Given the description of an element on the screen output the (x, y) to click on. 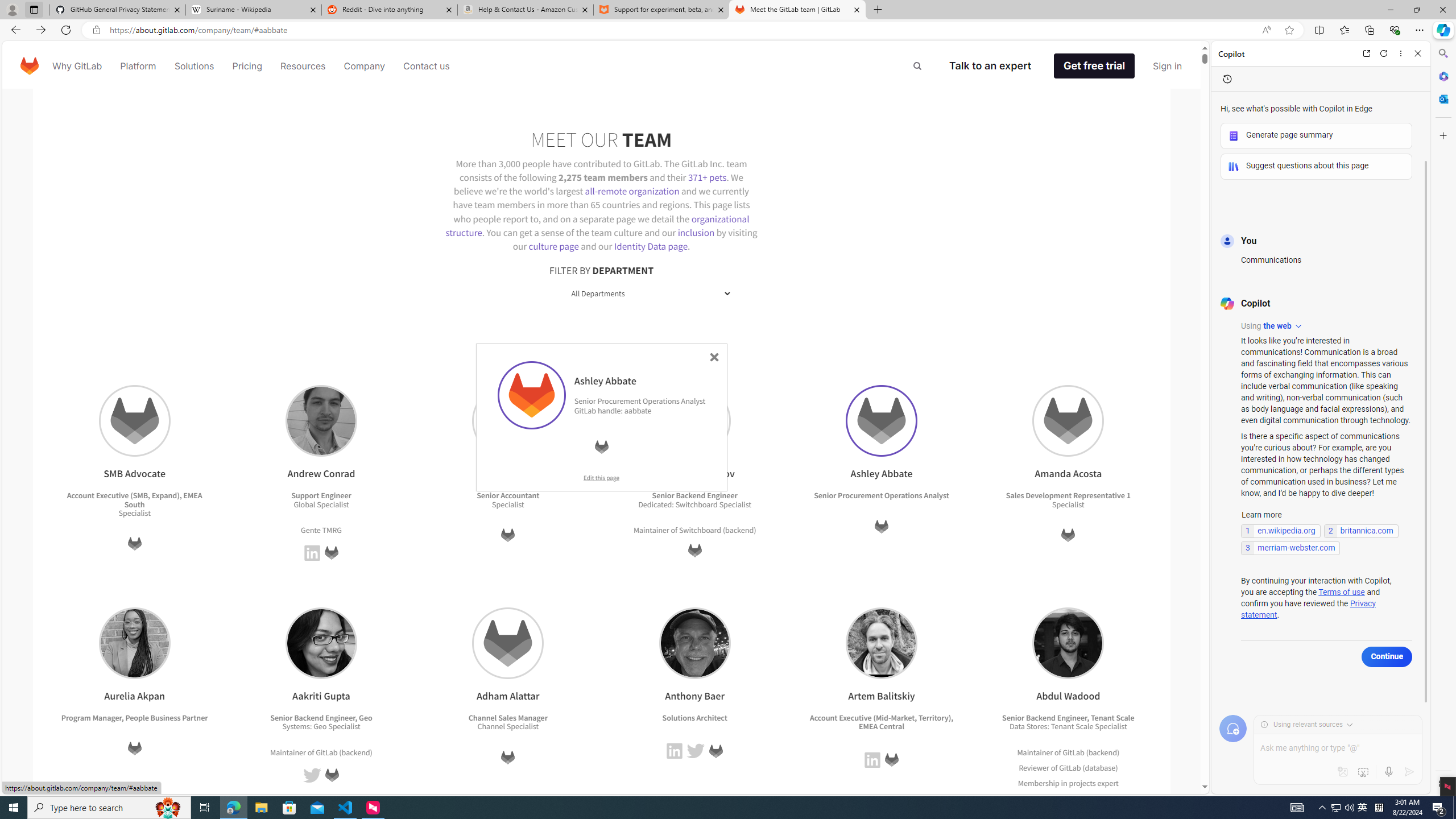
Membership in groups (1056, 797)
Pricing (246, 65)
Account Executive (Mid-Market, Territory), EMEA Central (881, 721)
Platform (138, 65)
371+ pets (706, 176)
Maintainer of Switchboard (backend) (695, 529)
Ayesha Zubair (507, 420)
Platform (138, 65)
Switchboard (700, 529)
Senior Procurement Operations Analyst (639, 400)
Abdul Wadood (1068, 642)
Identity Data page (650, 246)
